Given the description of an element on the screen output the (x, y) to click on. 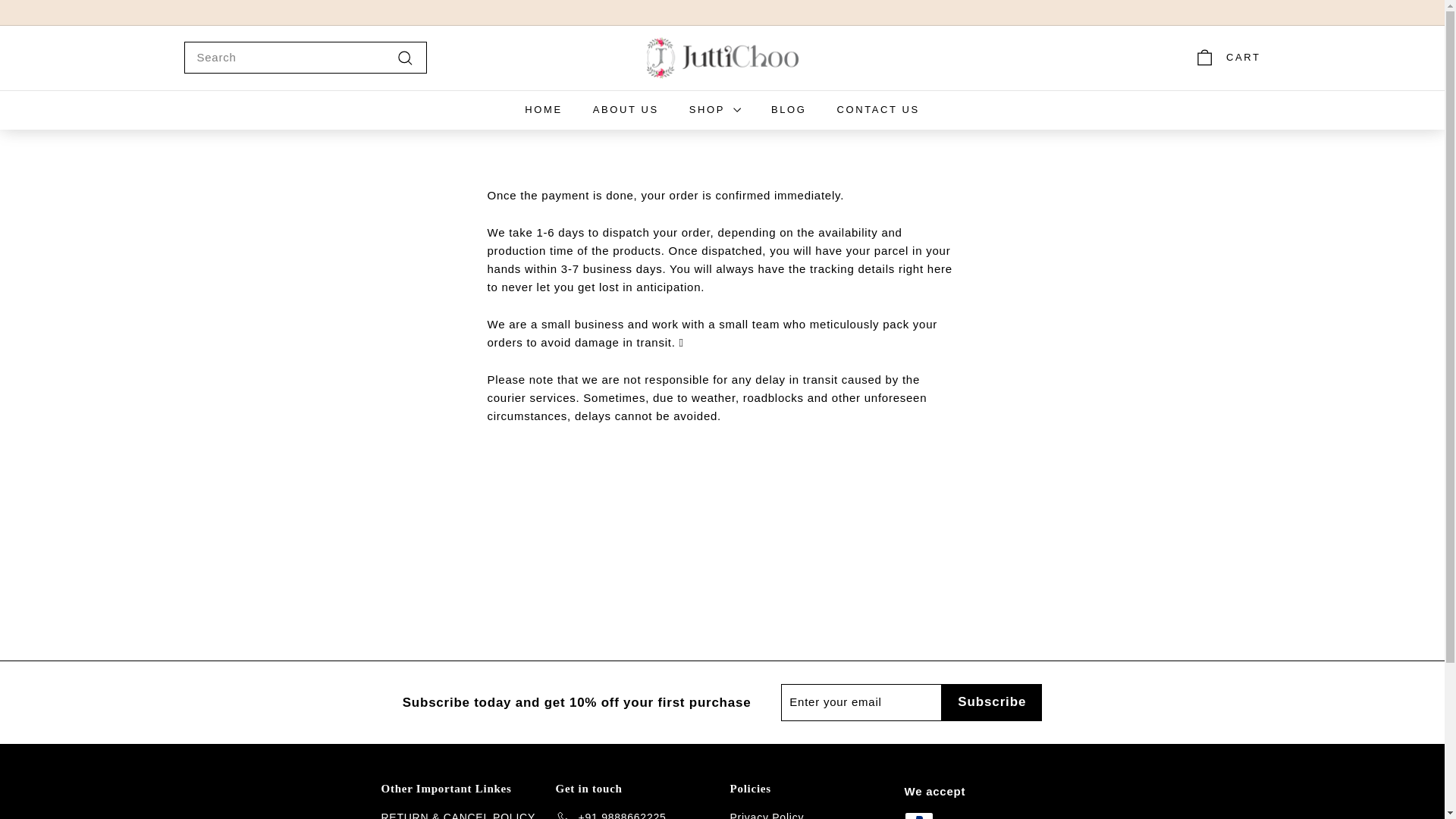
HOME (542, 110)
Subscribe (992, 701)
CART (1227, 58)
ABOUT US (626, 110)
BLOG (788, 110)
PayPal (918, 815)
CONTACT US (877, 110)
